Given the description of an element on the screen output the (x, y) to click on. 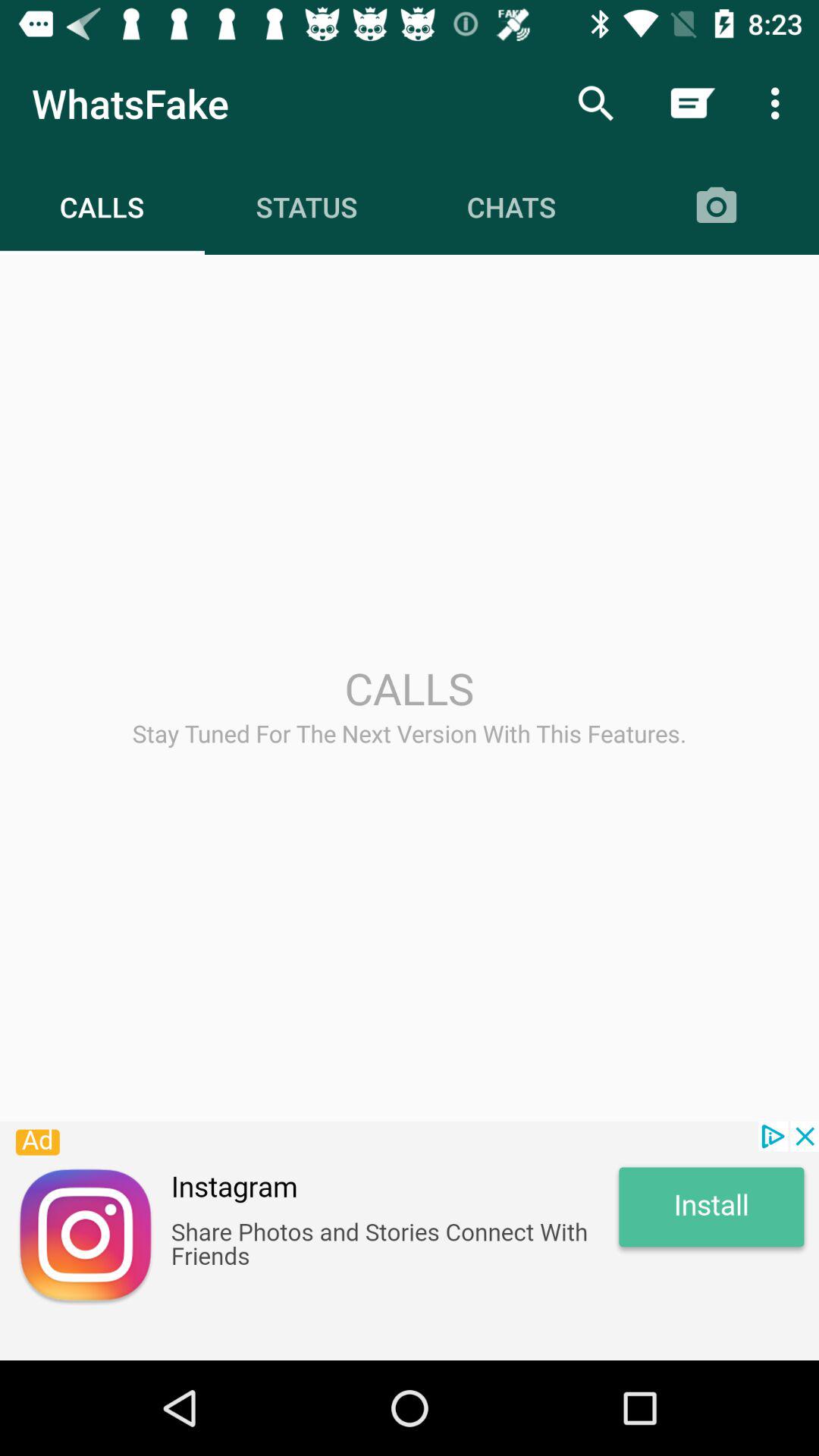
interact with advertisement (409, 1240)
